Given the description of an element on the screen output the (x, y) to click on. 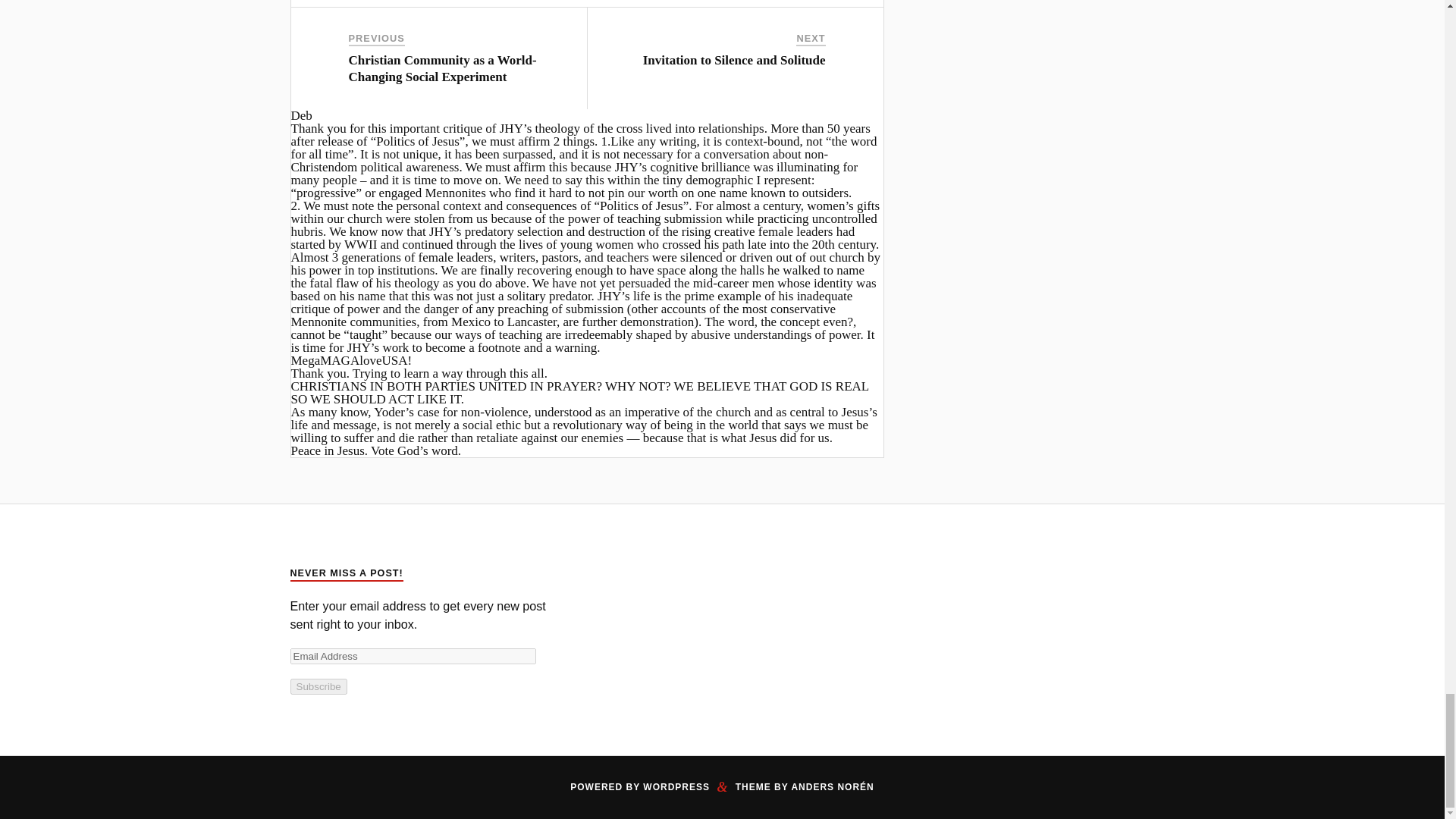
Next post: Invitation to Silence and Solitude (734, 60)
Subscribe (317, 686)
